Given the description of an element on the screen output the (x, y) to click on. 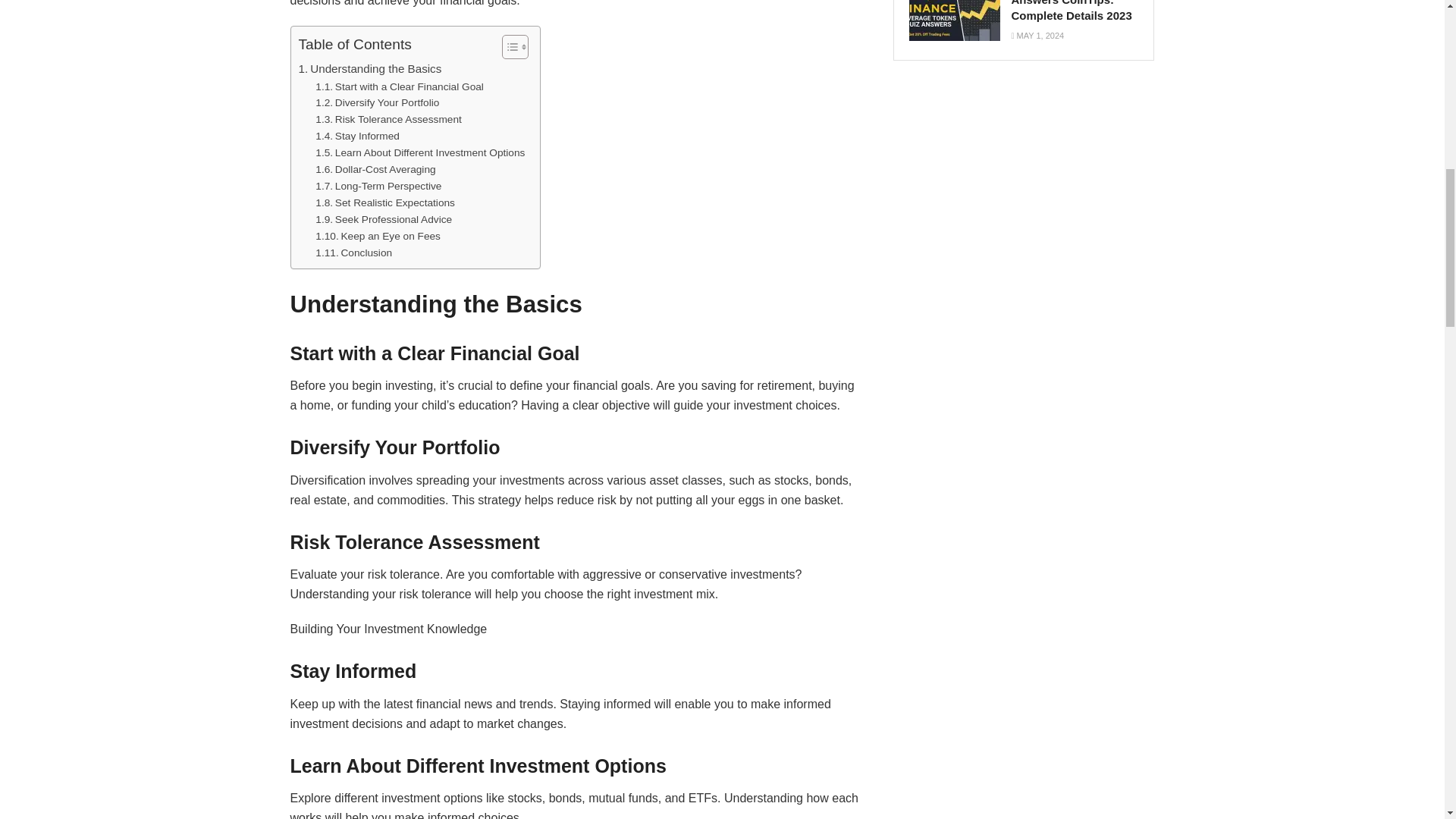
Risk Tolerance Assessment (388, 119)
Start with a Clear Financial Goal (399, 86)
Stay Informed (356, 135)
Keep an Eye on Fees (378, 236)
Conclusion (353, 252)
Diversify Your Portfolio (377, 103)
Seek Professional Advice (383, 219)
Understanding the Basics (370, 68)
Start with a Clear Financial Goal (399, 86)
Set Realistic Expectations (384, 202)
Stay Informed (356, 135)
Dollar-Cost Averaging (375, 169)
Risk Tolerance Assessment (388, 119)
Long-Term Perspective (378, 186)
Learn About Different Investment Options (419, 152)
